Given the description of an element on the screen output the (x, y) to click on. 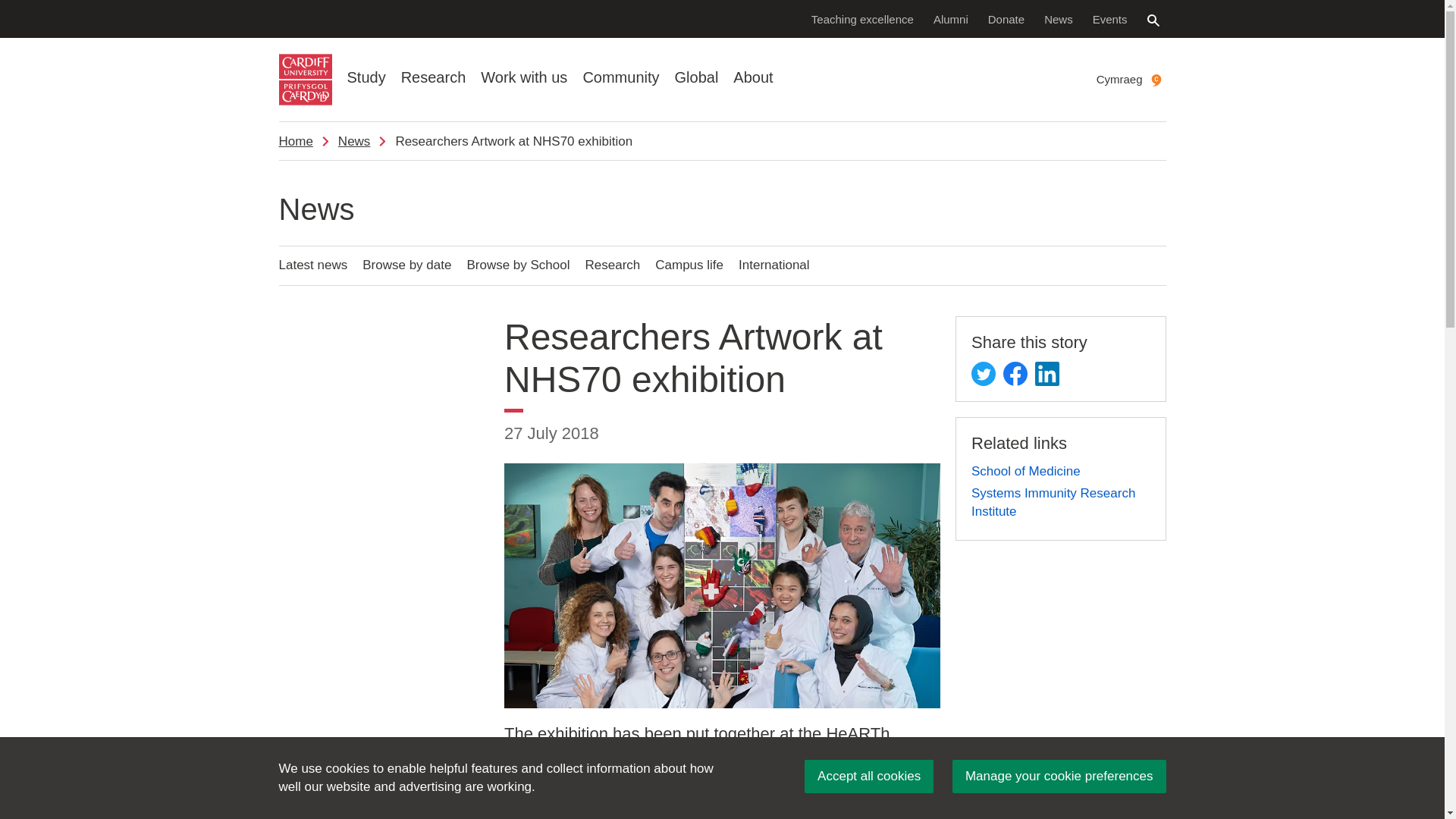
Cardiff University logo (305, 79)
Cardiff University logo (305, 79)
News (1058, 19)
cymraeg (1155, 80)
Search (1152, 20)
Teaching excellence (862, 19)
Accept all cookies (869, 776)
Twitter (983, 373)
Donate (1005, 19)
facebook (1015, 373)
